Given the description of an element on the screen output the (x, y) to click on. 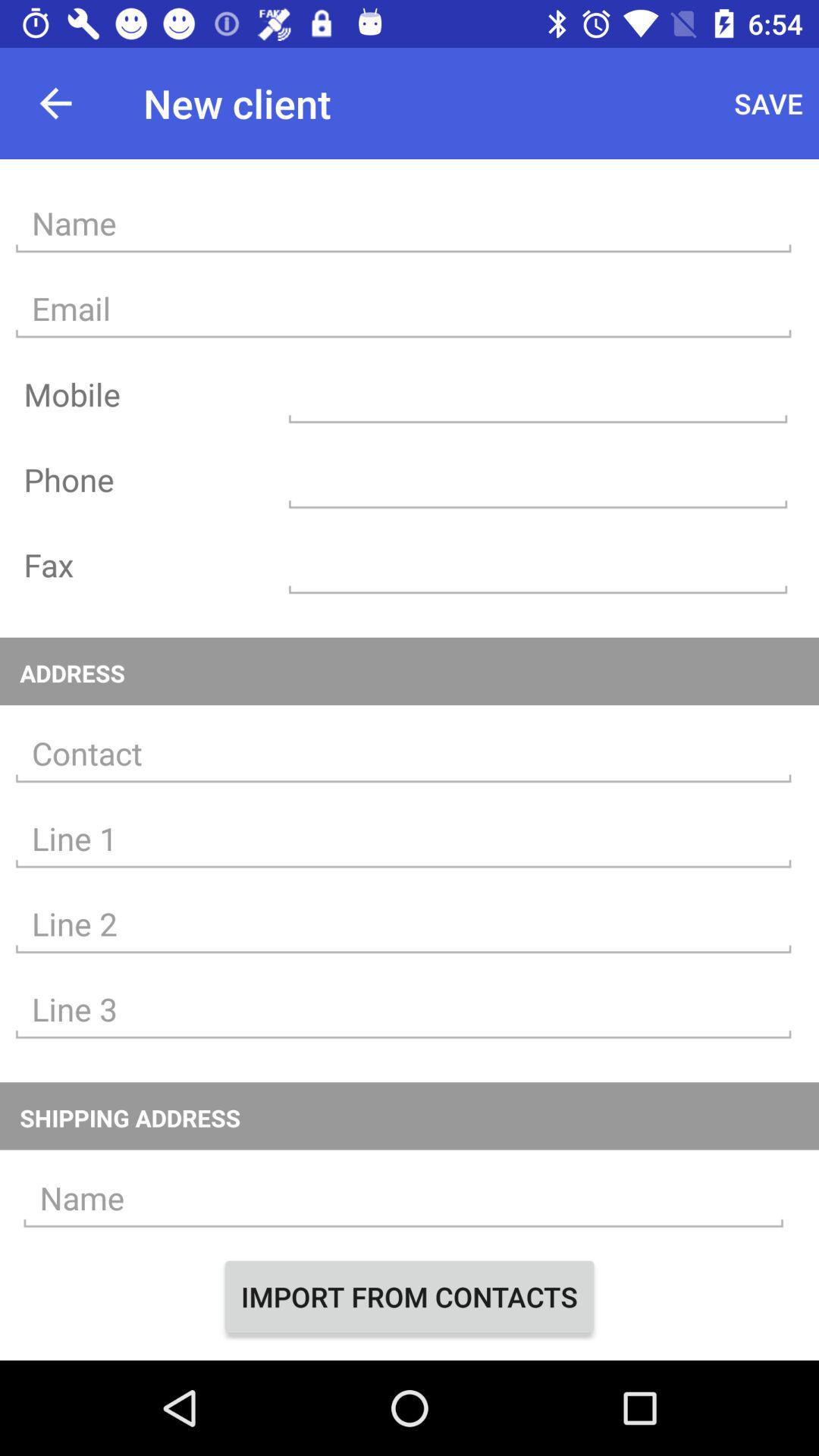
contact address text entry field (403, 753)
